Given the description of an element on the screen output the (x, y) to click on. 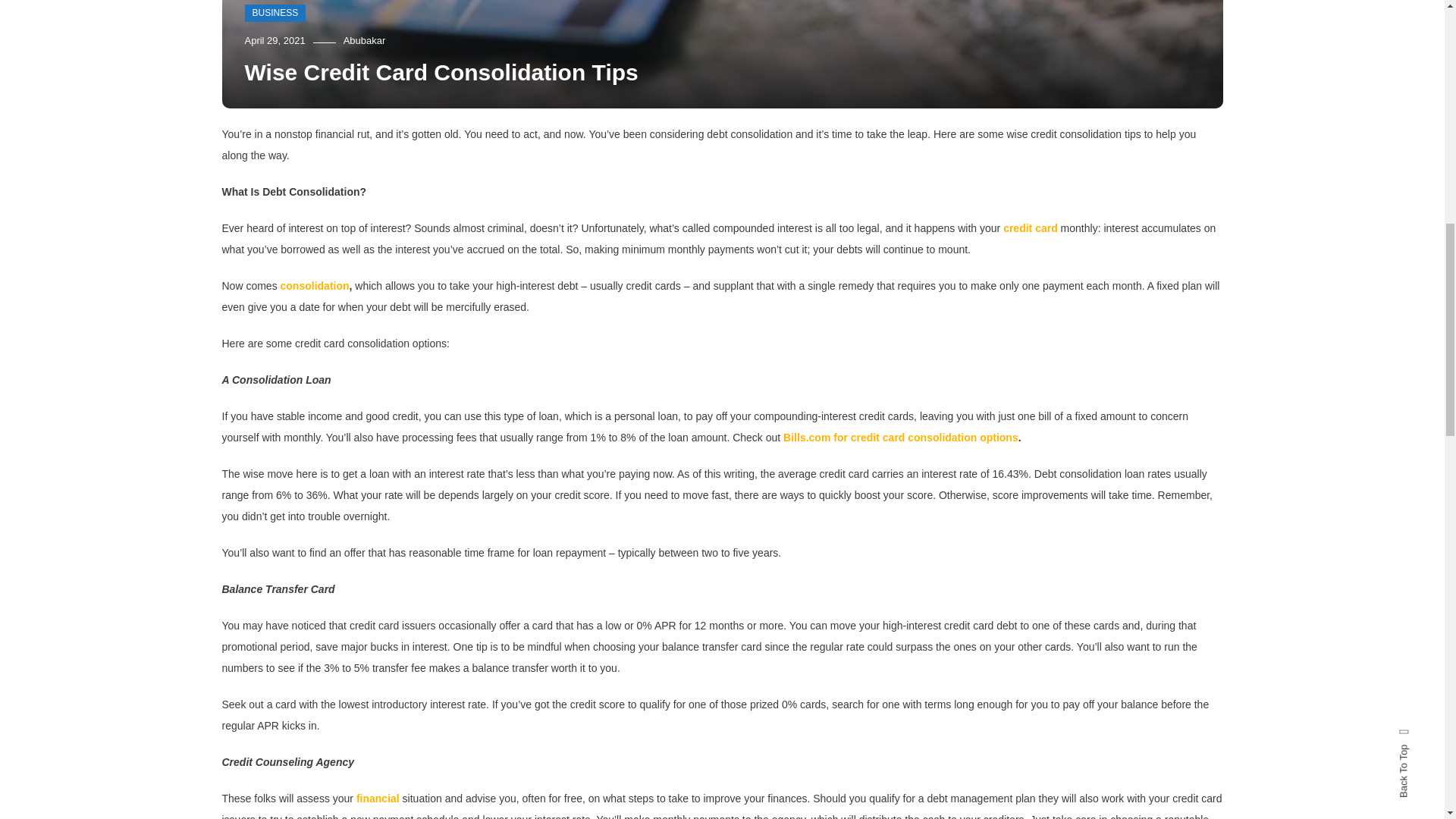
April 29, 2021 (274, 40)
Bills.com for credit card consolidation options (900, 437)
Abubakar (364, 40)
financial (377, 798)
Wise Credit Card Consolidation Tips (440, 72)
credit card (1030, 227)
consolidation (315, 285)
BUSINESS (274, 13)
